Given the description of an element on the screen output the (x, y) to click on. 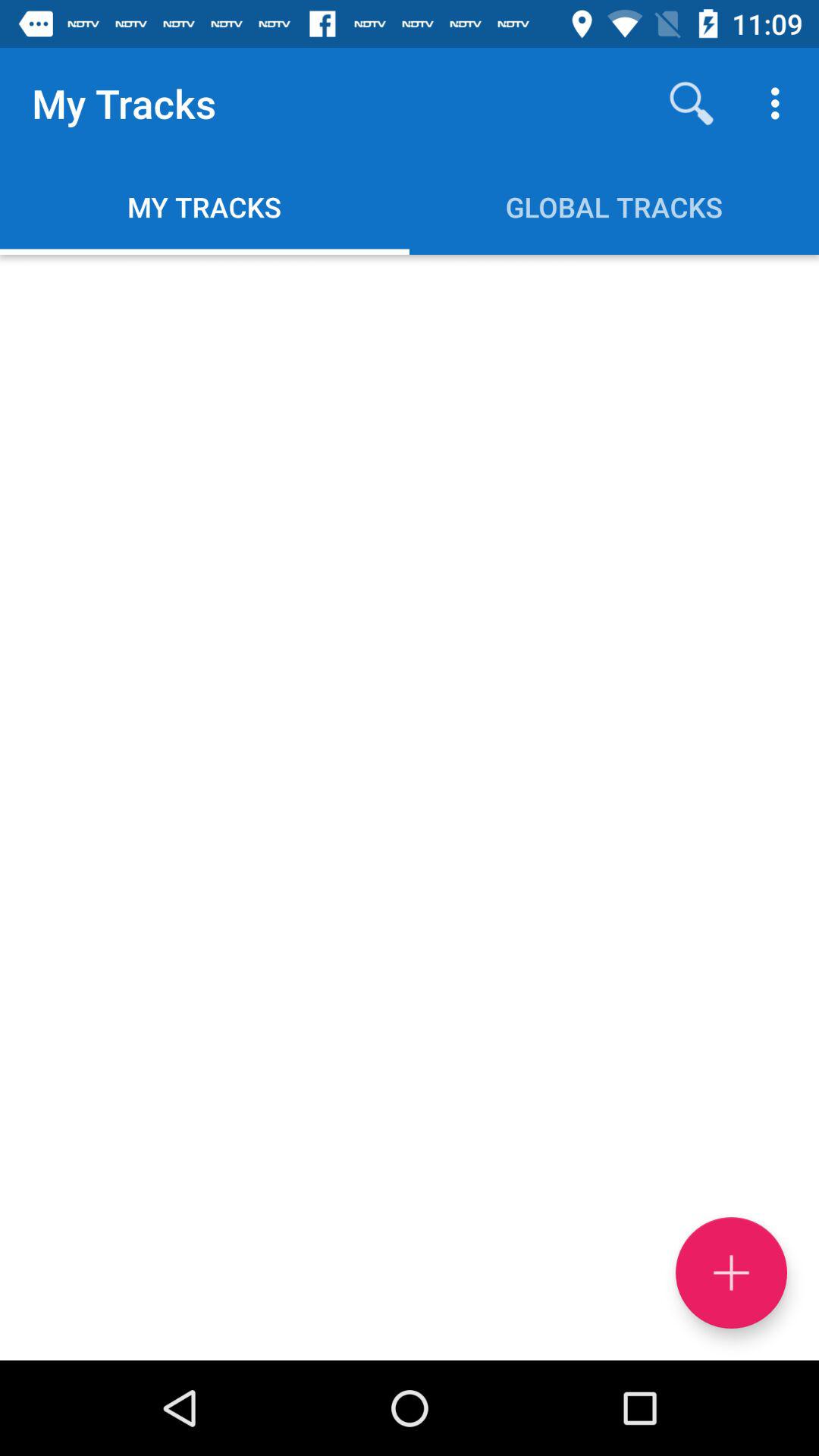
choose icon at the bottom right corner (731, 1272)
